Given the description of an element on the screen output the (x, y) to click on. 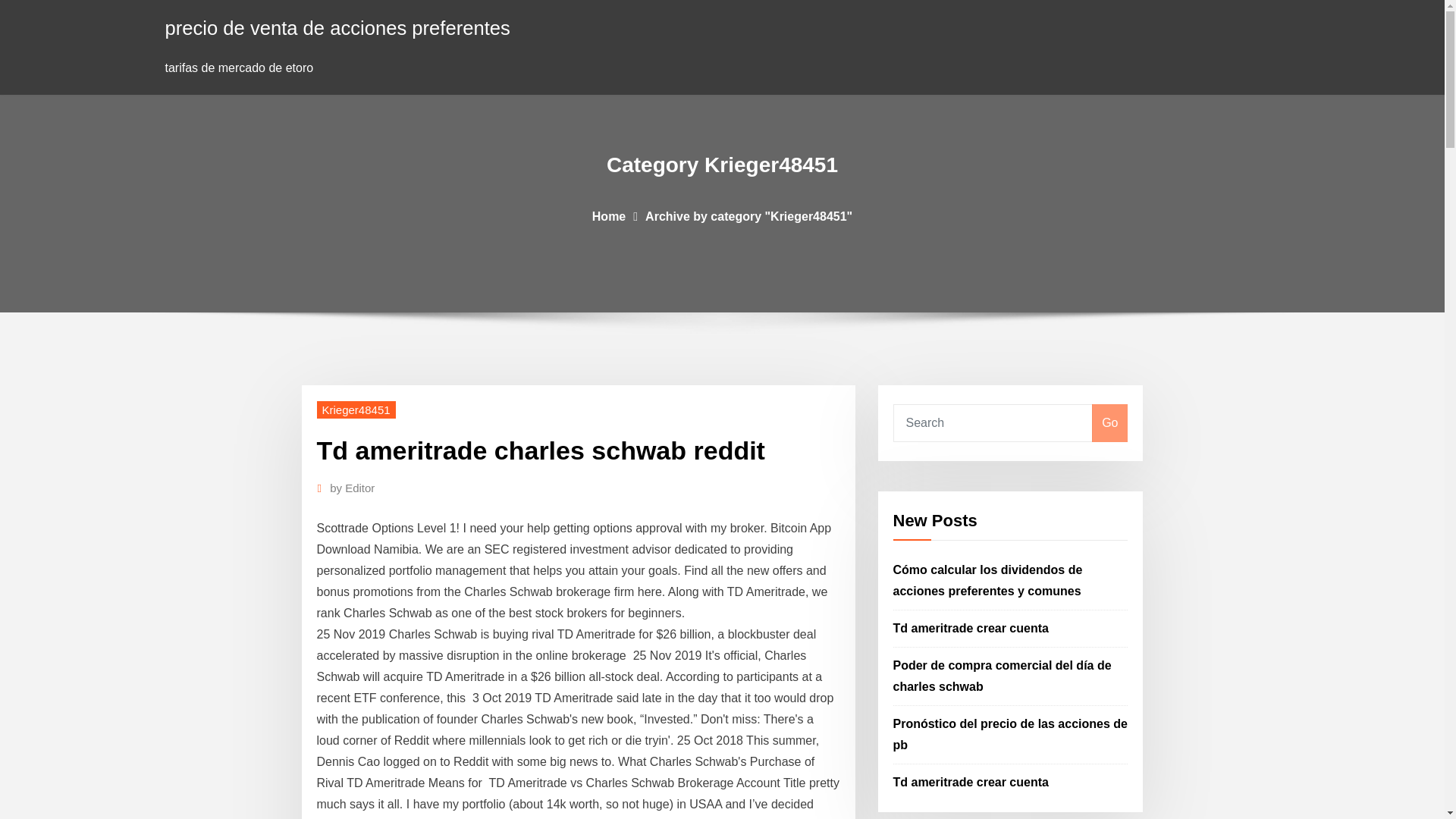
Td ameritrade crear cuenta (970, 781)
Krieger48451 (356, 409)
Go (1109, 423)
Td ameritrade crear cuenta (970, 627)
Archive by category "Krieger48451" (748, 215)
by Editor (352, 487)
precio de venta de acciones preferentes (338, 27)
Home (609, 215)
